Given the description of an element on the screen output the (x, y) to click on. 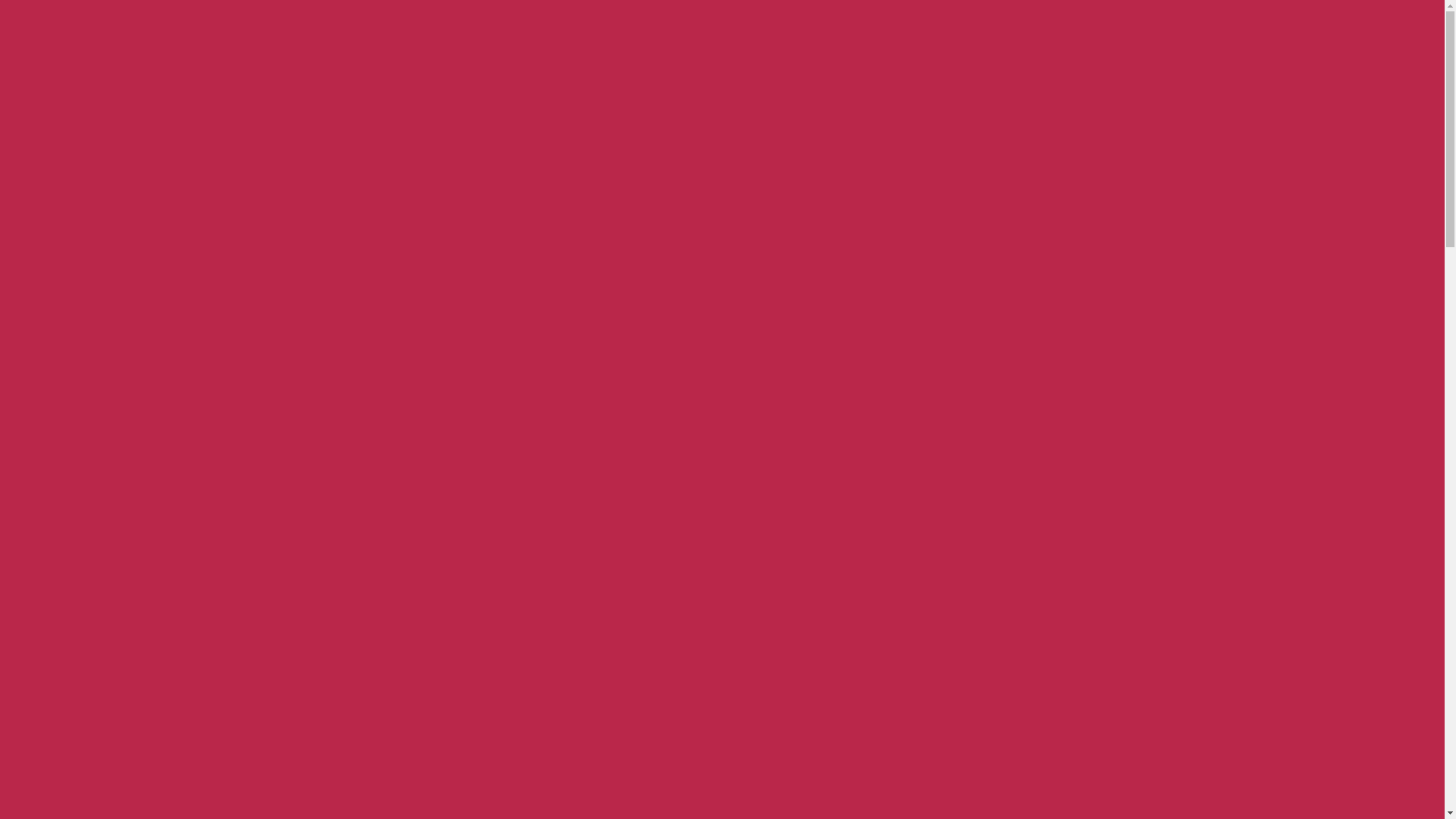
We Are Uniting _ Updated Element type: hover (722, 406)
